Given the description of an element on the screen output the (x, y) to click on. 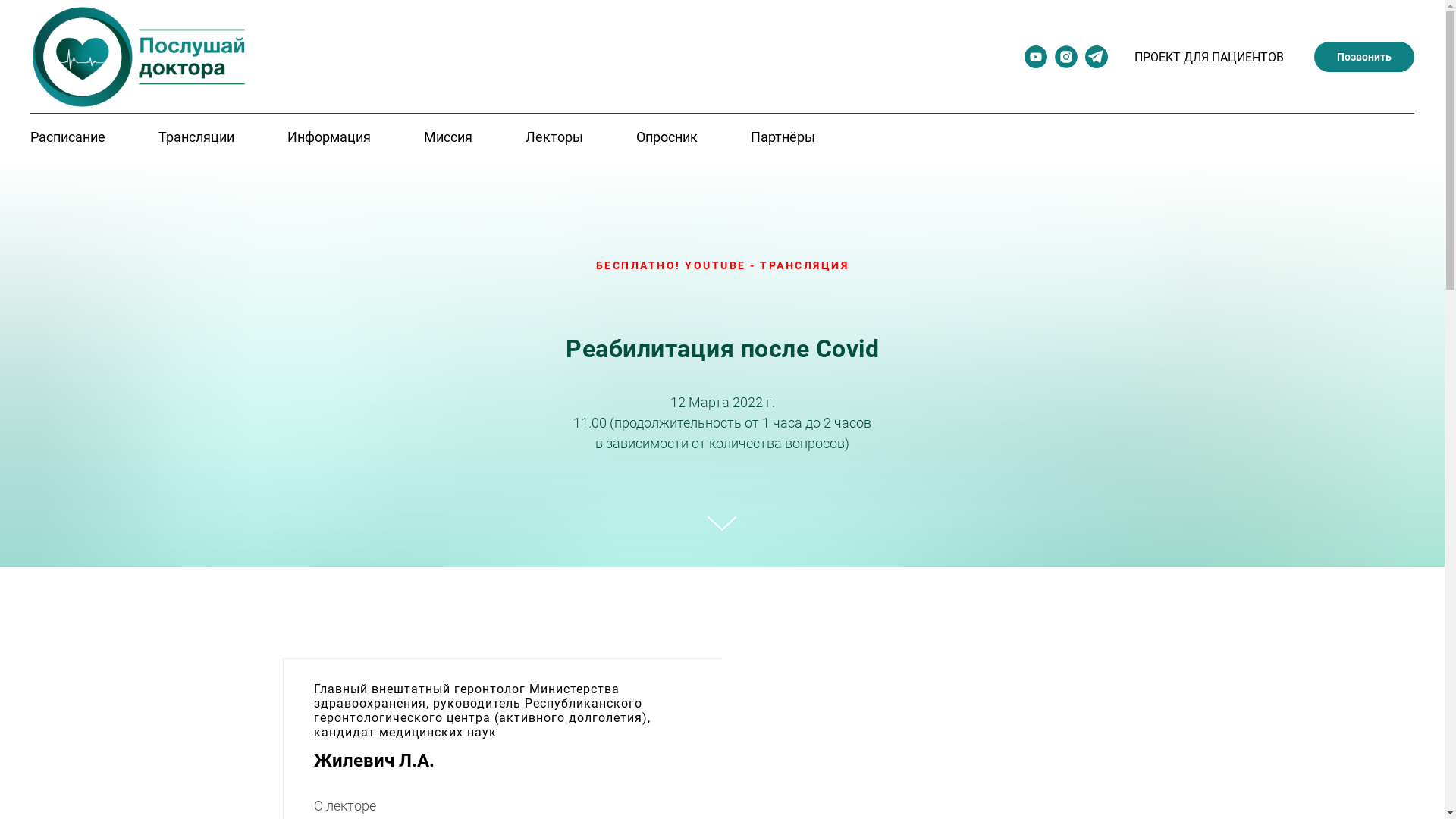
Youtube Element type: text (1035, 63)
Telegram Element type: text (1096, 63)
Instagram Element type: text (1065, 63)
